Given the description of an element on the screen output the (x, y) to click on. 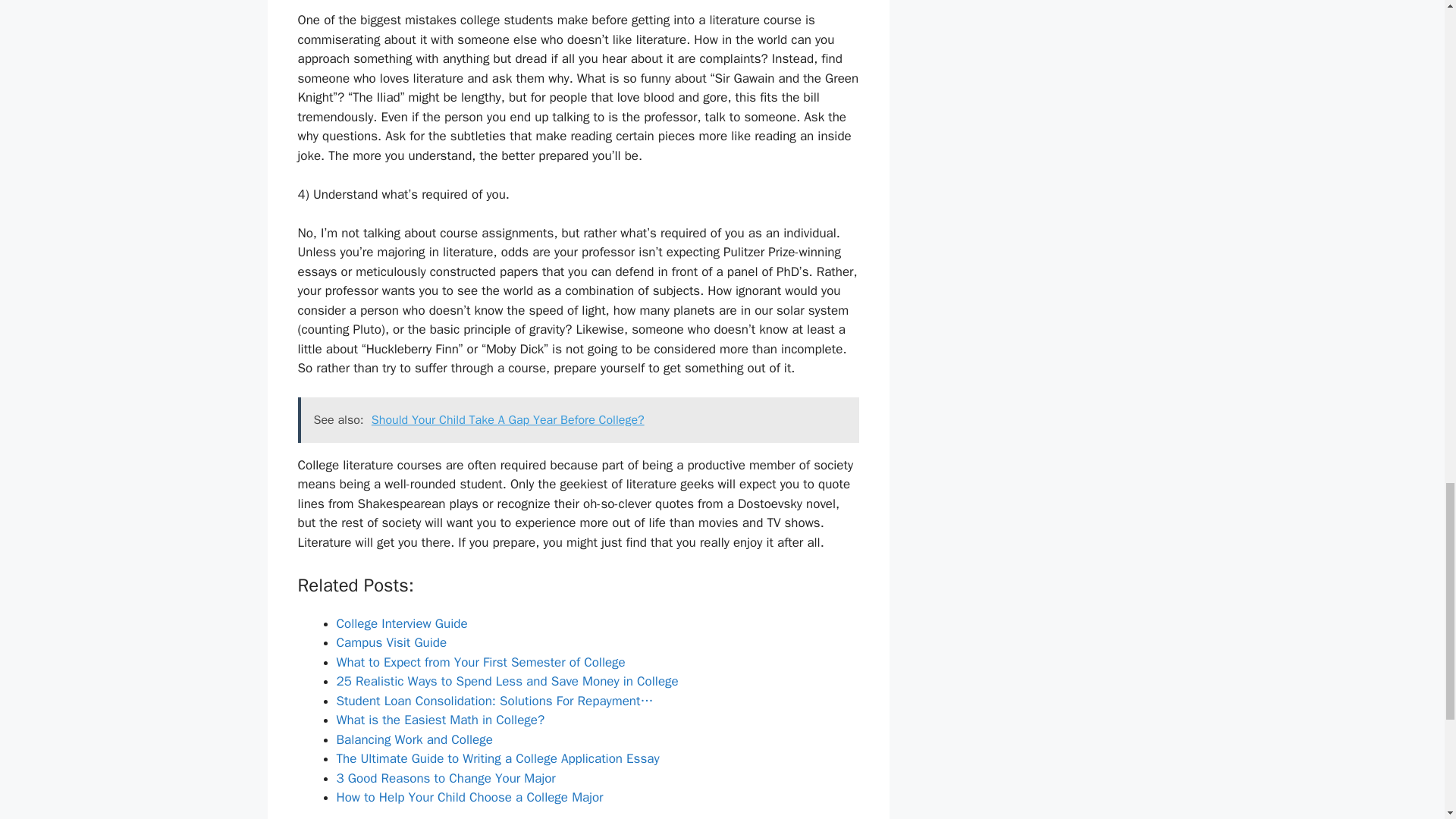
What to Expect from Your First Semester of College (481, 662)
What is the Easiest Math in College? (440, 719)
Balancing Work and College (414, 739)
See also:  Should Your Child Take A Gap Year Before College? (578, 420)
3 Good Reasons to Change Your Major (446, 778)
College Interview Guide (401, 623)
How to Help Your Child Choose a College Major (470, 797)
The Ultimate Guide to Writing a College Application Essay (497, 758)
25 Realistic Ways to Spend Less and Save Money in College (507, 681)
Campus Visit Guide (391, 642)
